Given the description of an element on the screen output the (x, y) to click on. 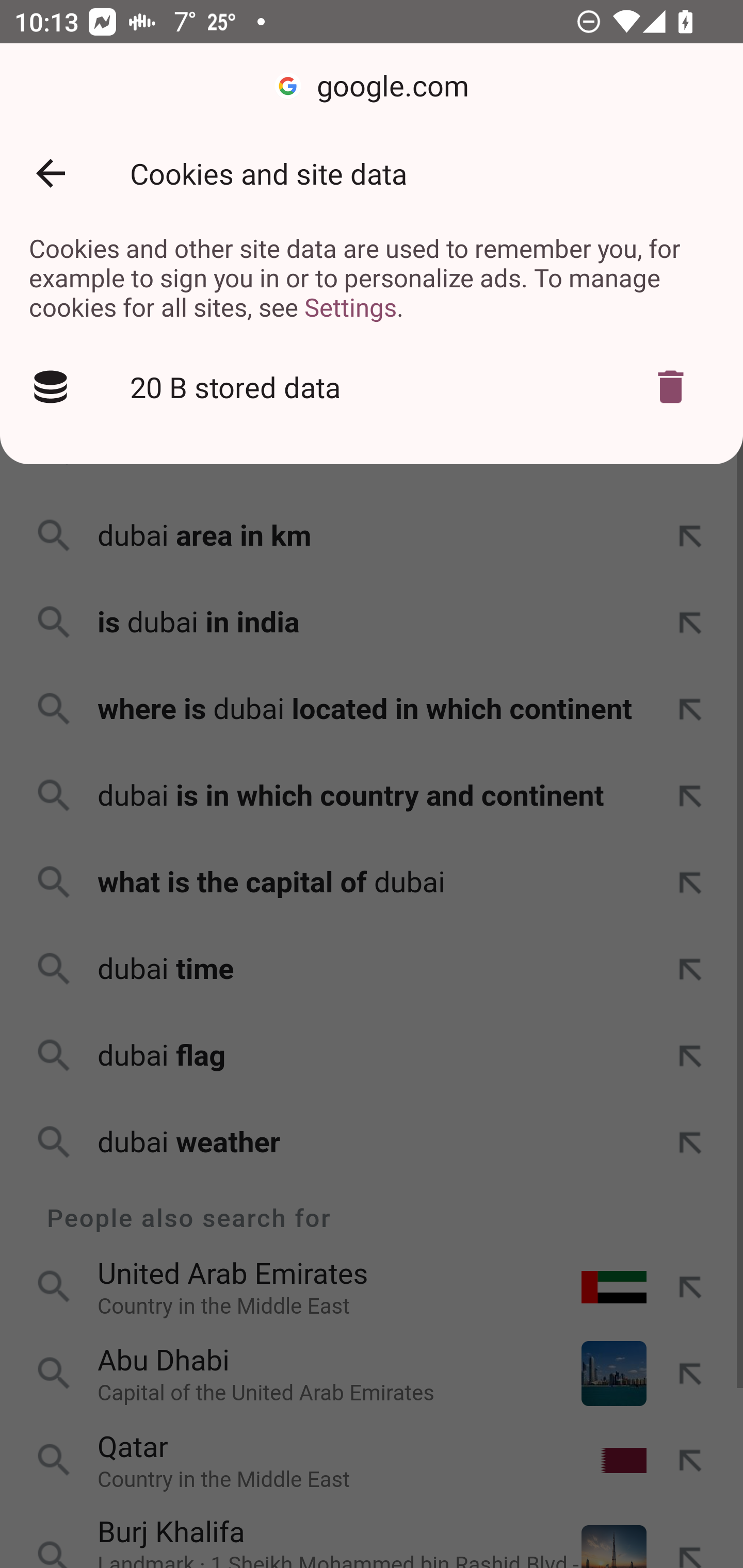
google.com (371, 86)
Back (50, 173)
20 B stored data Delete cookies? (371, 386)
